Given the description of an element on the screen output the (x, y) to click on. 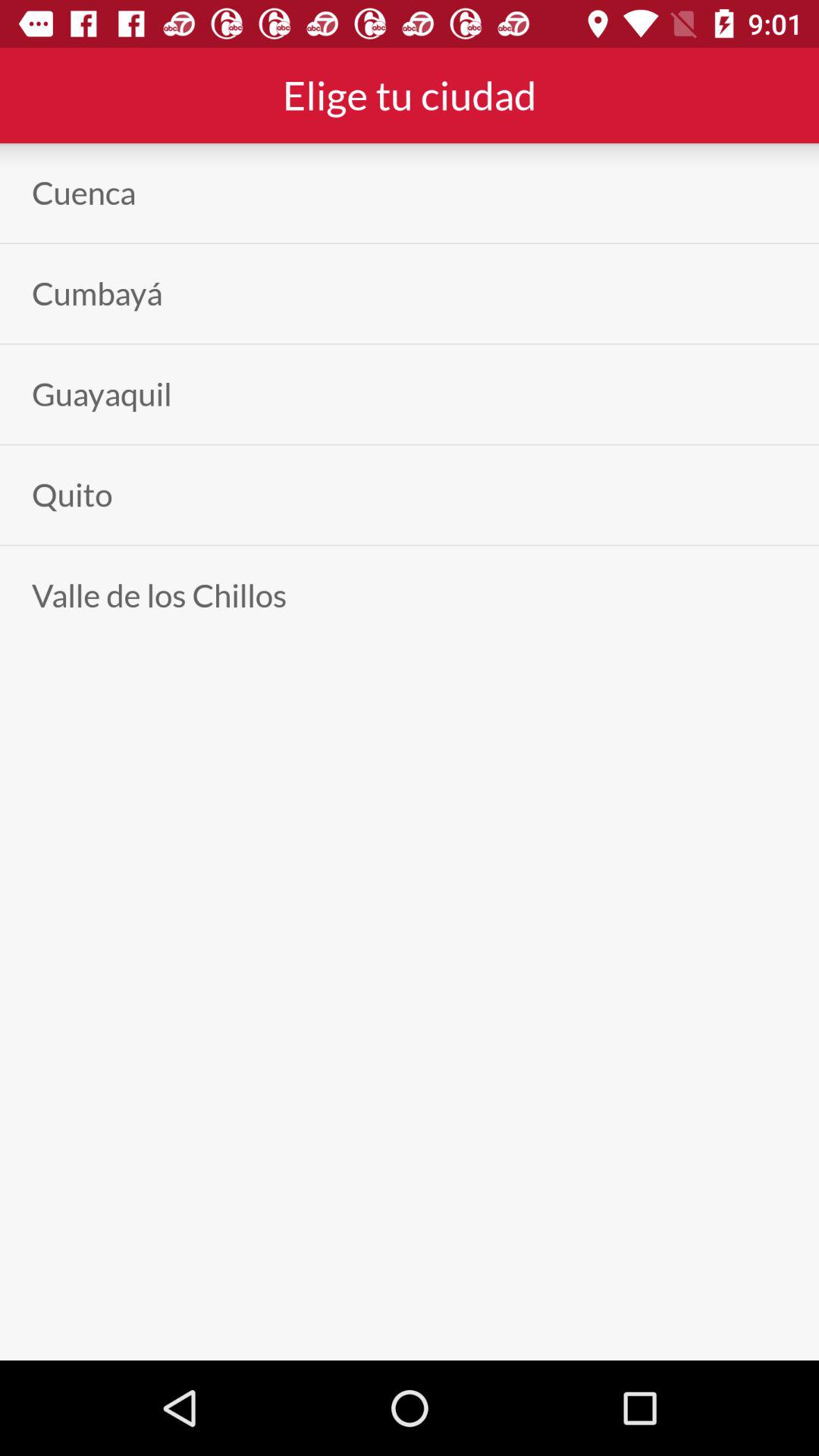
turn on app above the valle de los icon (71, 495)
